Given the description of an element on the screen output the (x, y) to click on. 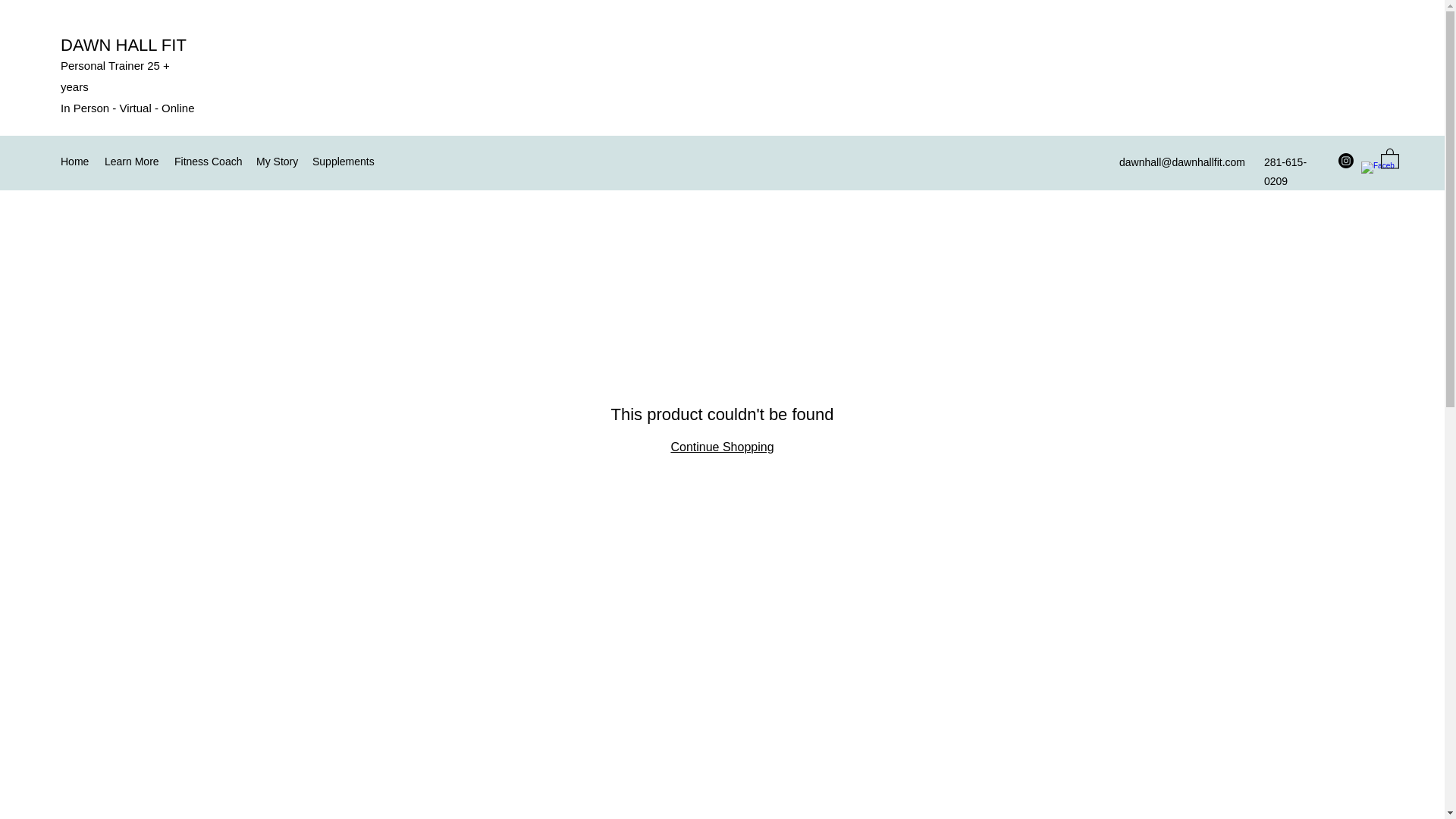
Continue Shopping (721, 446)
Home (74, 160)
Supplements (344, 160)
Fitness Coach (207, 160)
My Story (276, 160)
DAWN HALL FIT (123, 45)
